Given the description of an element on the screen output the (x, y) to click on. 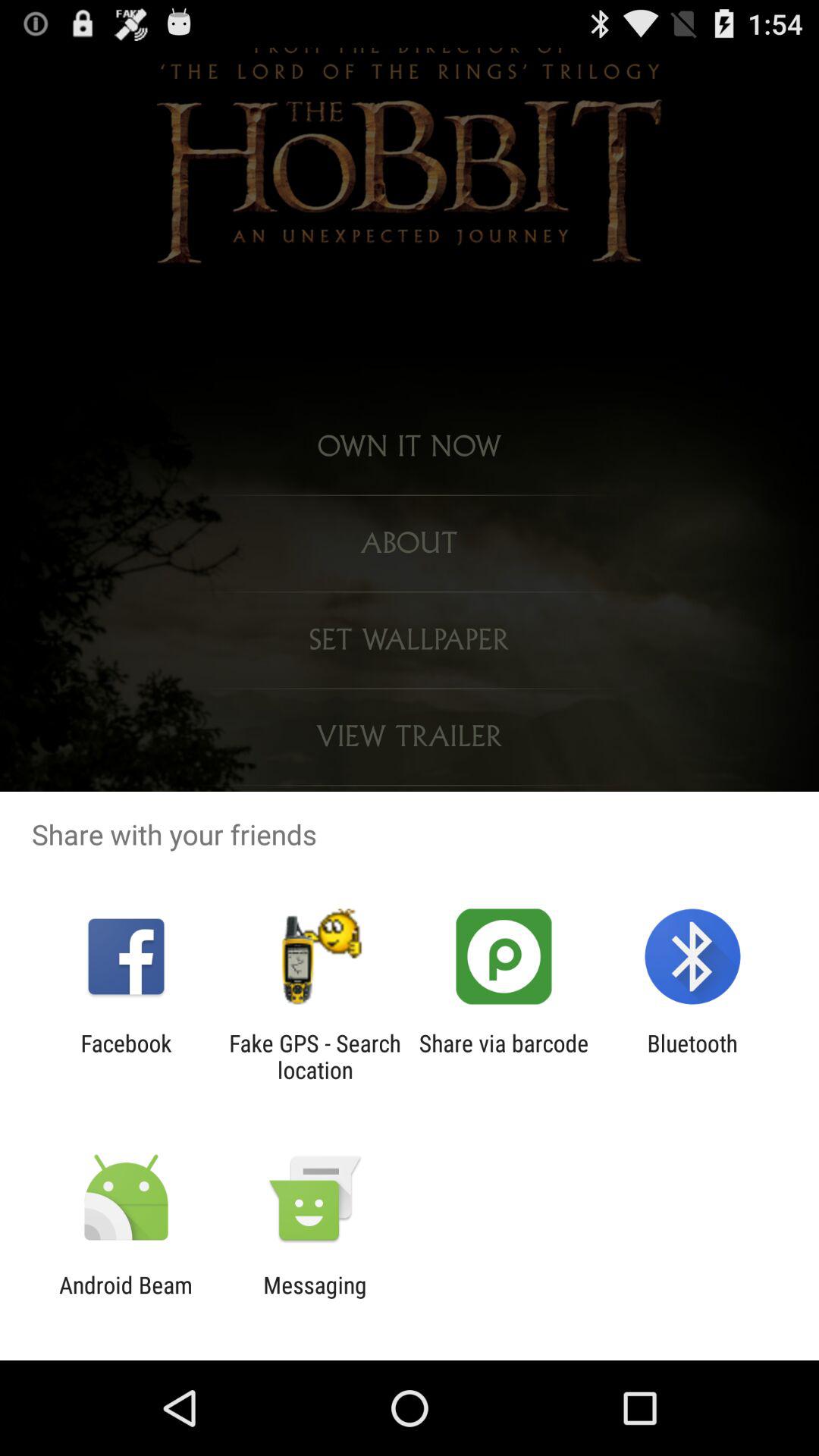
open item next to share via barcode (314, 1056)
